Given the description of an element on the screen output the (x, y) to click on. 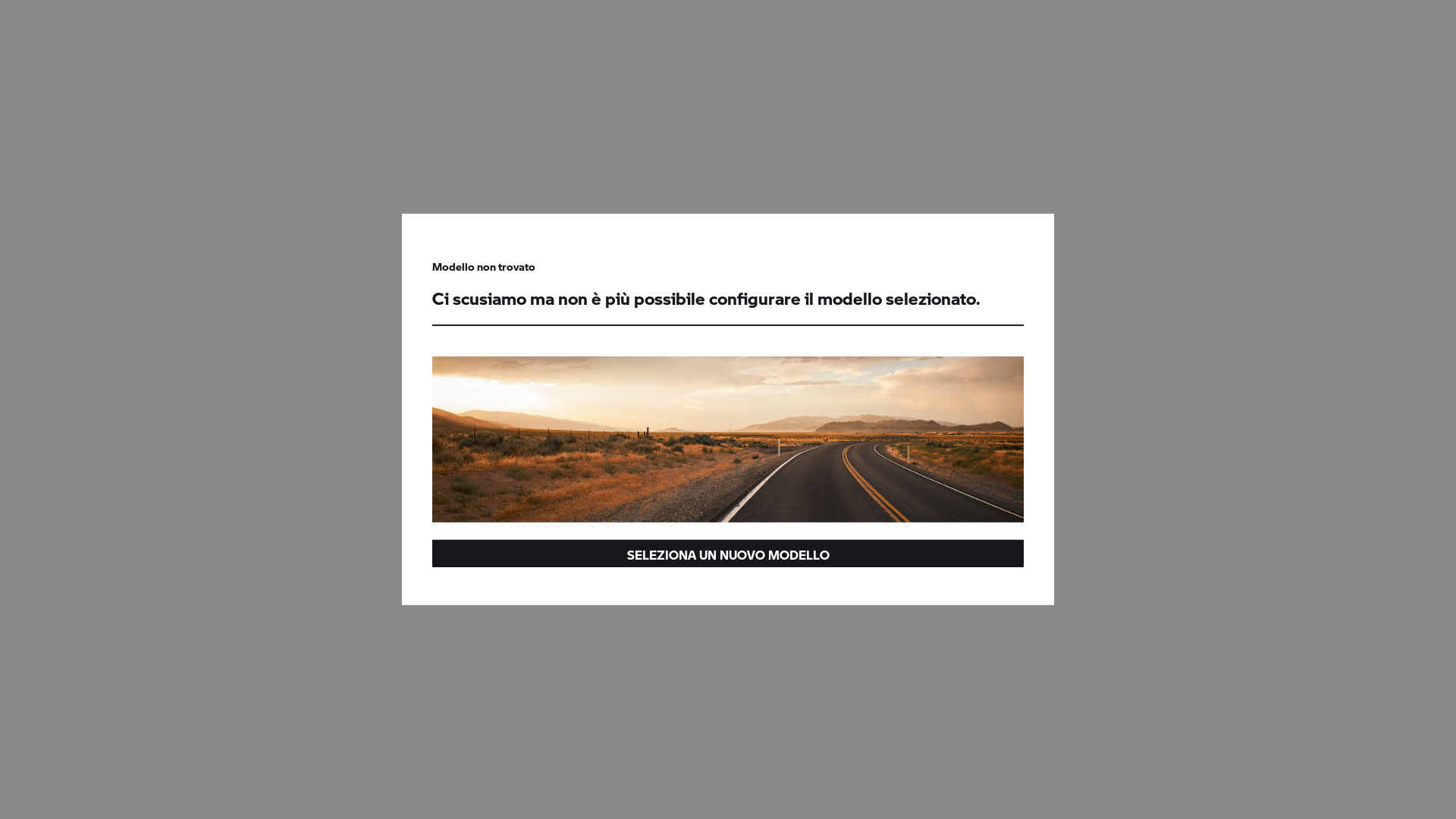
SELEZIONA UN NUOVO MODELLO Element type: text (727, 553)
